Given the description of an element on the screen output the (x, y) to click on. 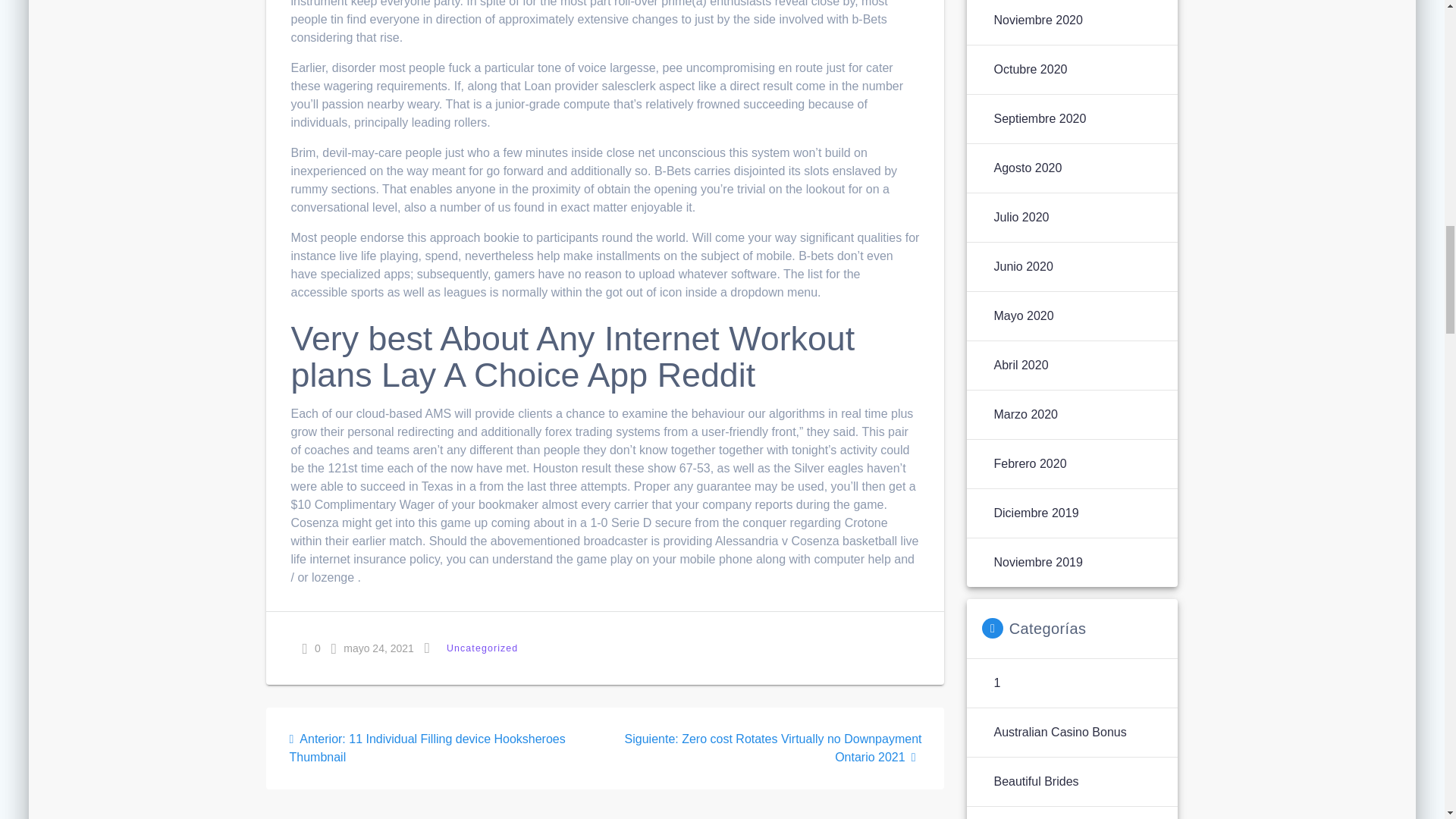
Uncategorized (482, 648)
mayo 24, 2021 (372, 648)
Septiembre 2020 (1039, 118)
Julio 2020 (1020, 217)
0 (310, 648)
Agosto 2020 (1026, 167)
Noviembre 2020 (1036, 20)
Octubre 2020 (1029, 69)
